Given the description of an element on the screen output the (x, y) to click on. 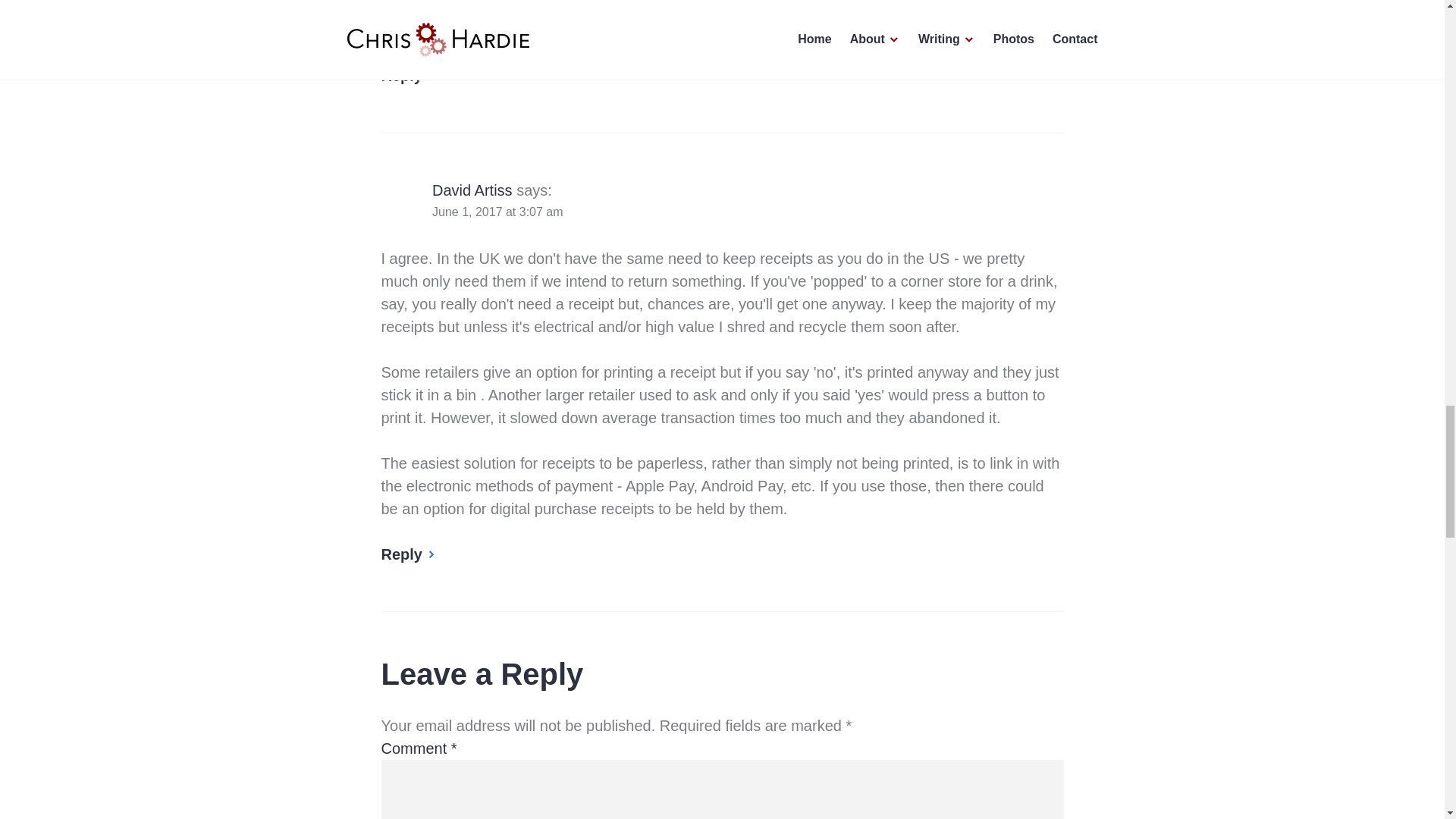
David Artiss (472, 190)
June 1, 2017 at 3:07 am (497, 211)
Reply (408, 75)
